Given the description of an element on the screen output the (x, y) to click on. 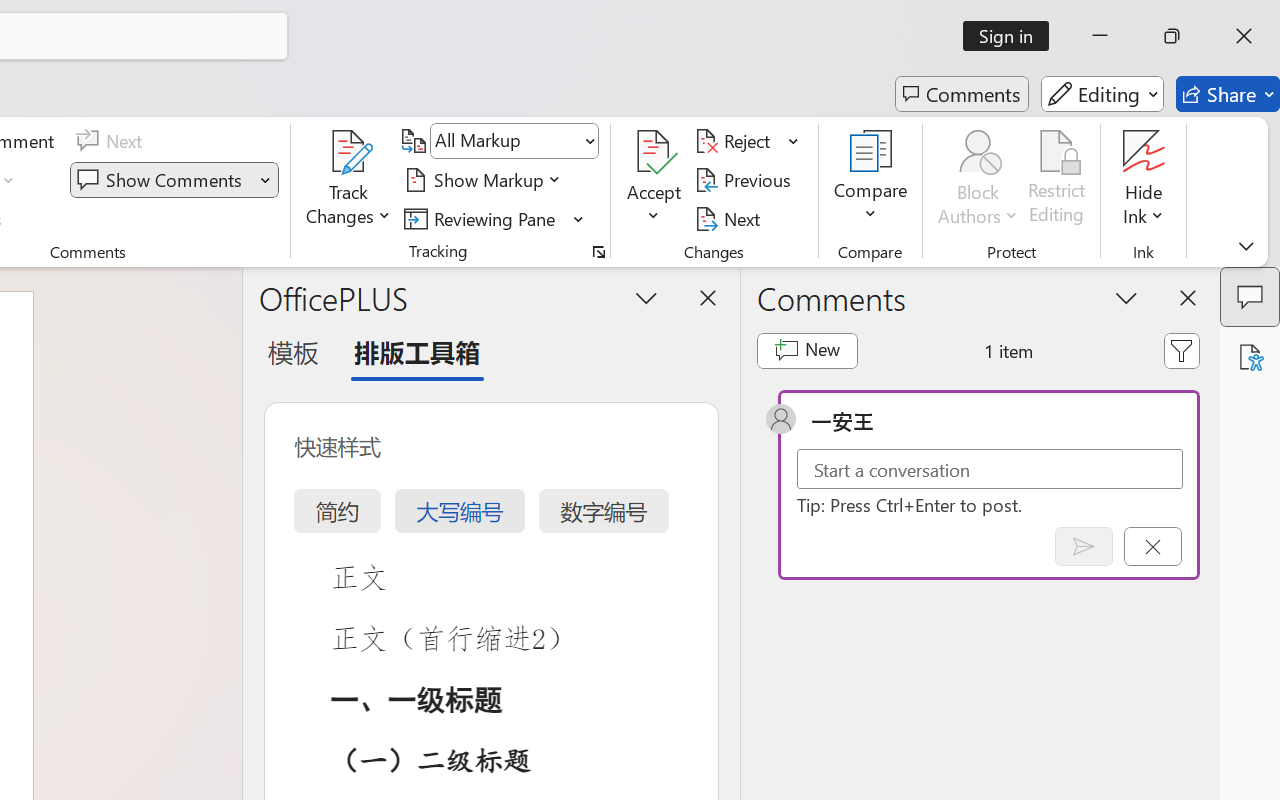
Editing (1101, 94)
Block Authors (977, 151)
Restrict Editing (1057, 179)
Start a conversation (990, 468)
Post comment (Ctrl + Enter) (1083, 546)
Show Markup (485, 179)
Filter (1181, 350)
Block Authors (977, 179)
Track Changes (349, 179)
Previous (745, 179)
